Given the description of an element on the screen output the (x, y) to click on. 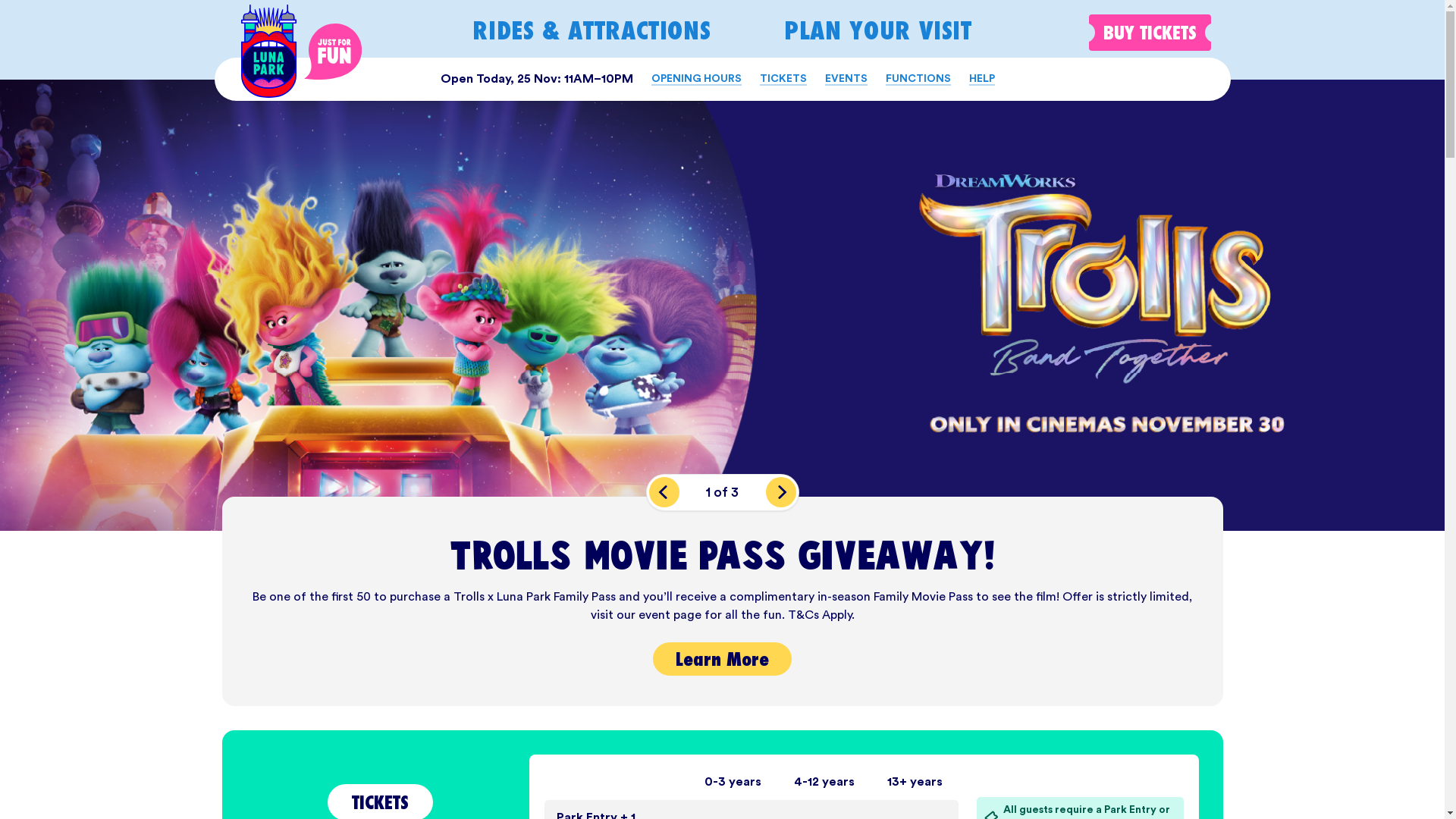
TICKETS Element type: text (782, 79)
BUY TICKETS Element type: text (1149, 32)
RIDES & ATTRACTIONS Element type: text (591, 30)
Learn More Element type: text (721, 658)
EVENTS Element type: text (846, 79)
FUNCTIONS Element type: text (917, 79)
HELP Element type: text (981, 79)
PLAN YOUR VISIT Element type: text (878, 30)
